Given the description of an element on the screen output the (x, y) to click on. 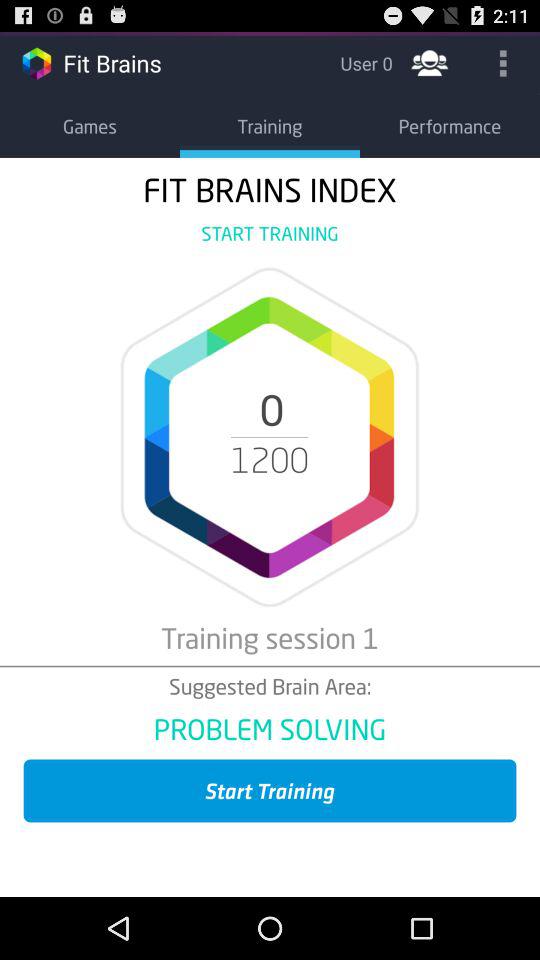
select the item above the performance (503, 62)
